Given the description of an element on the screen output the (x, y) to click on. 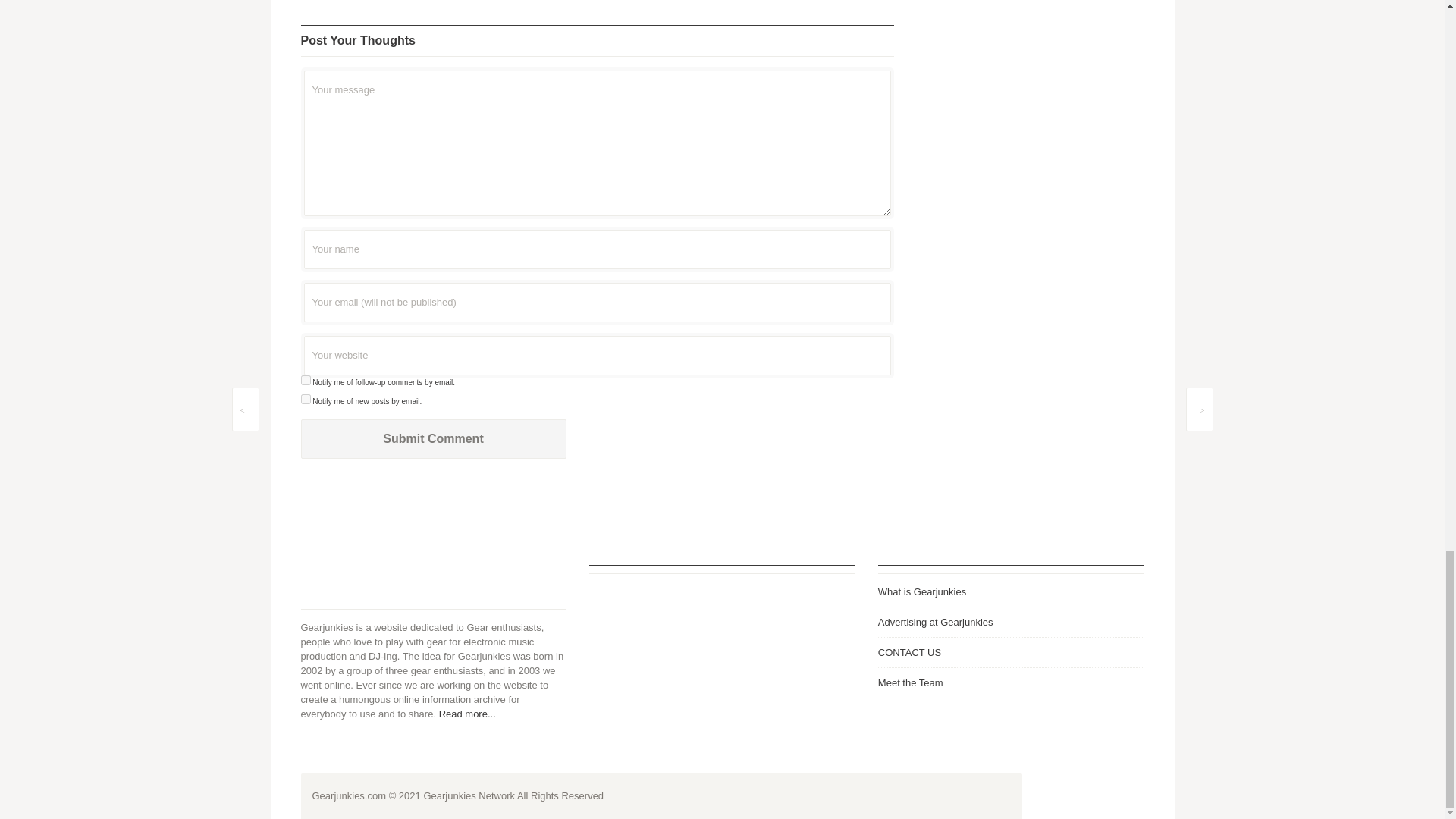
Submit Comment (432, 438)
subscribe (304, 379)
subscribe (304, 398)
